Given the description of an element on the screen output the (x, y) to click on. 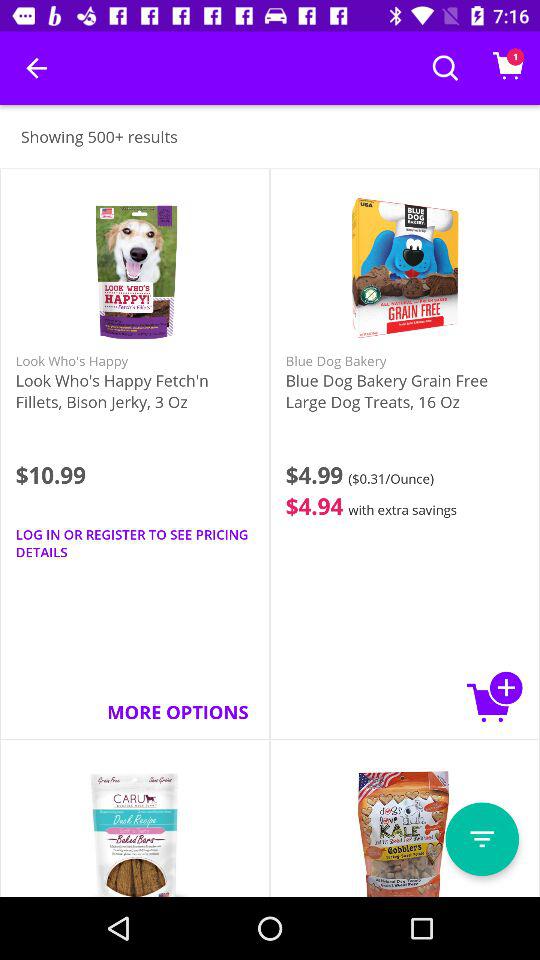
select the item below blue dog bakery (495, 696)
